Given the description of an element on the screen output the (x, y) to click on. 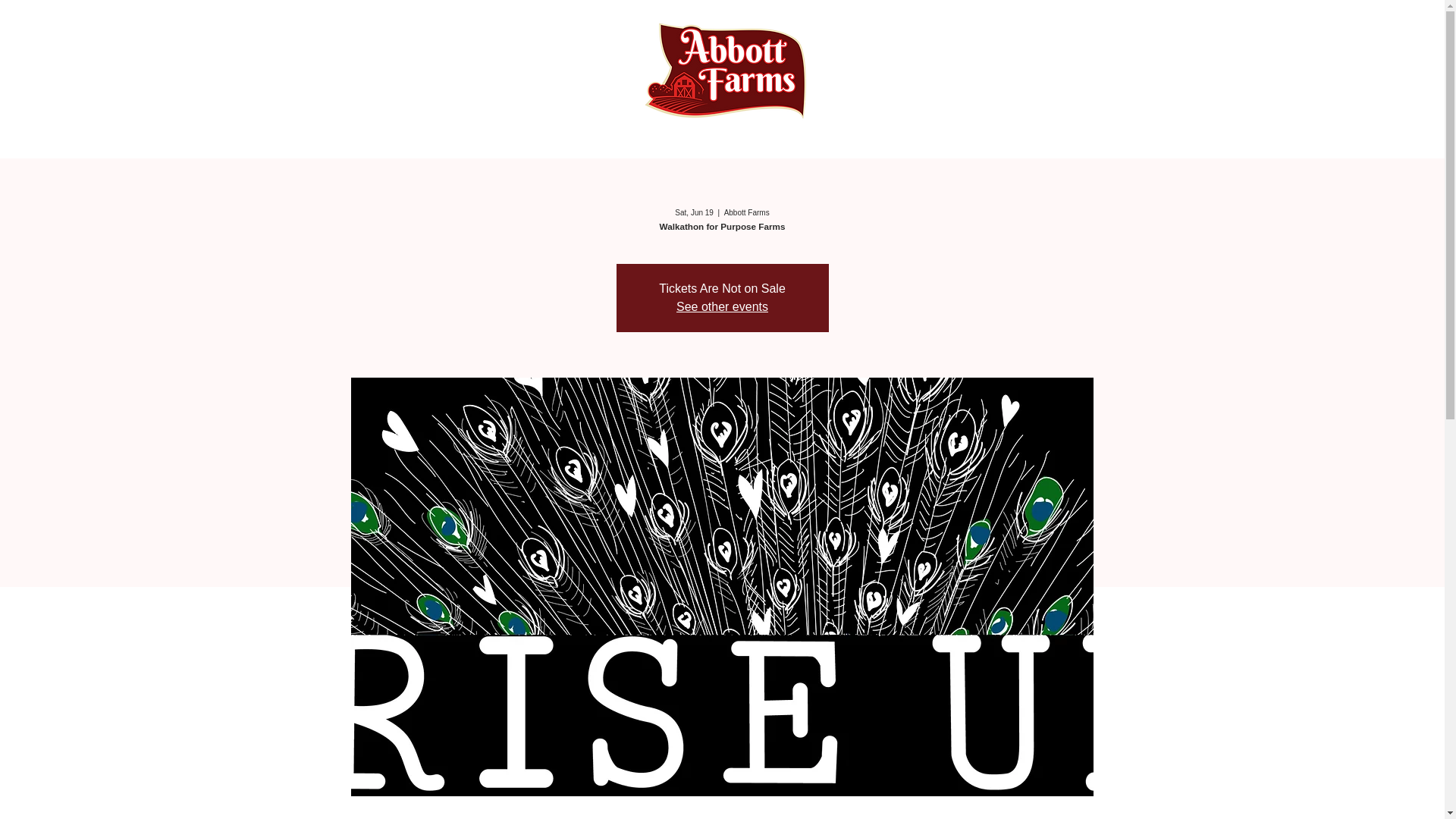
See other events (722, 306)
